Given the description of an element on the screen output the (x, y) to click on. 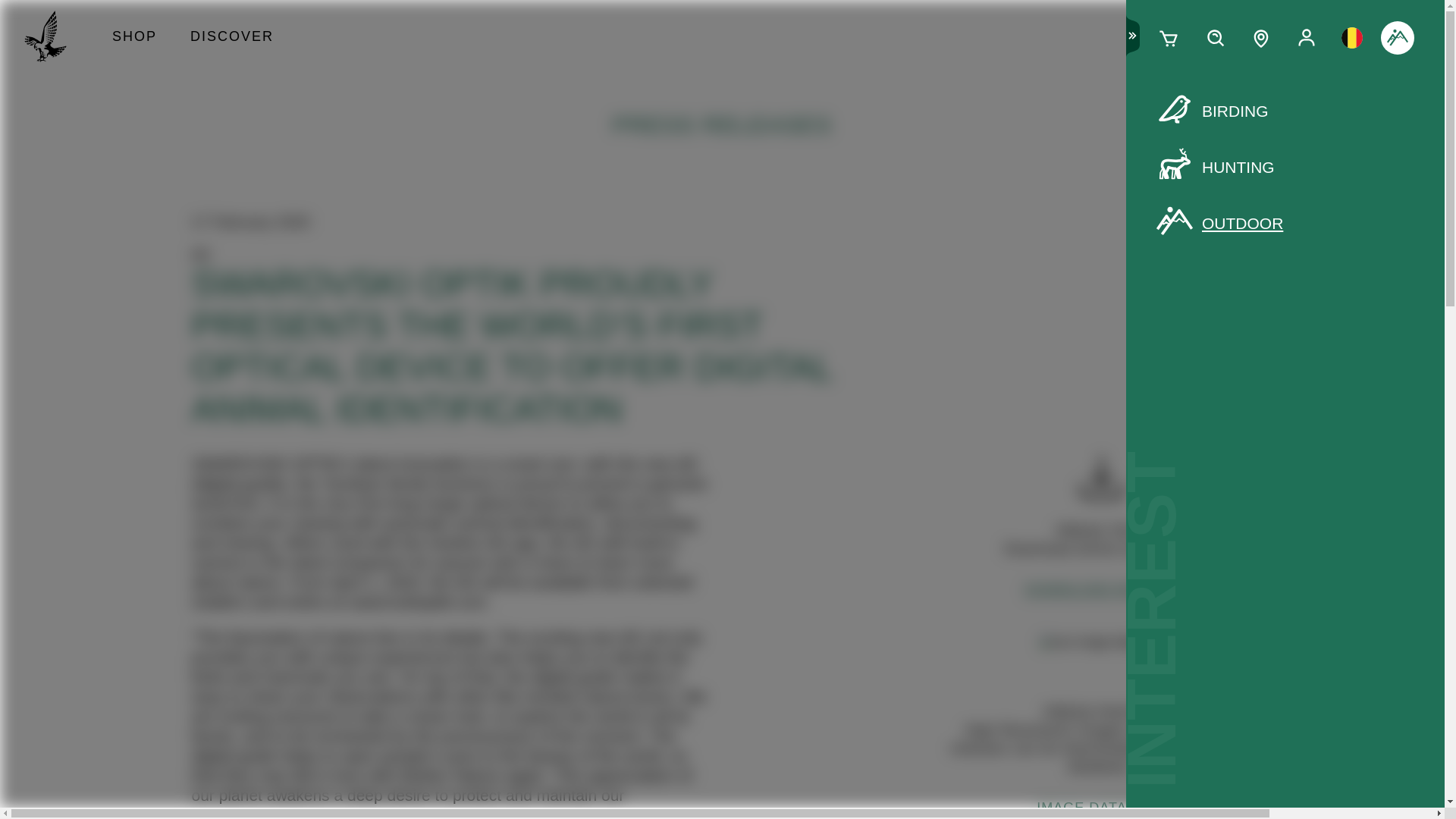
Discover (231, 37)
BIRDING (1284, 110)
INTEREST (1397, 37)
SEARCH (1215, 37)
HUNTING (1284, 167)
CART (1169, 37)
SHOP (134, 37)
ACCOUNT (1306, 37)
OUTDOOR (1284, 223)
Shop (134, 37)
